Given the description of an element on the screen output the (x, y) to click on. 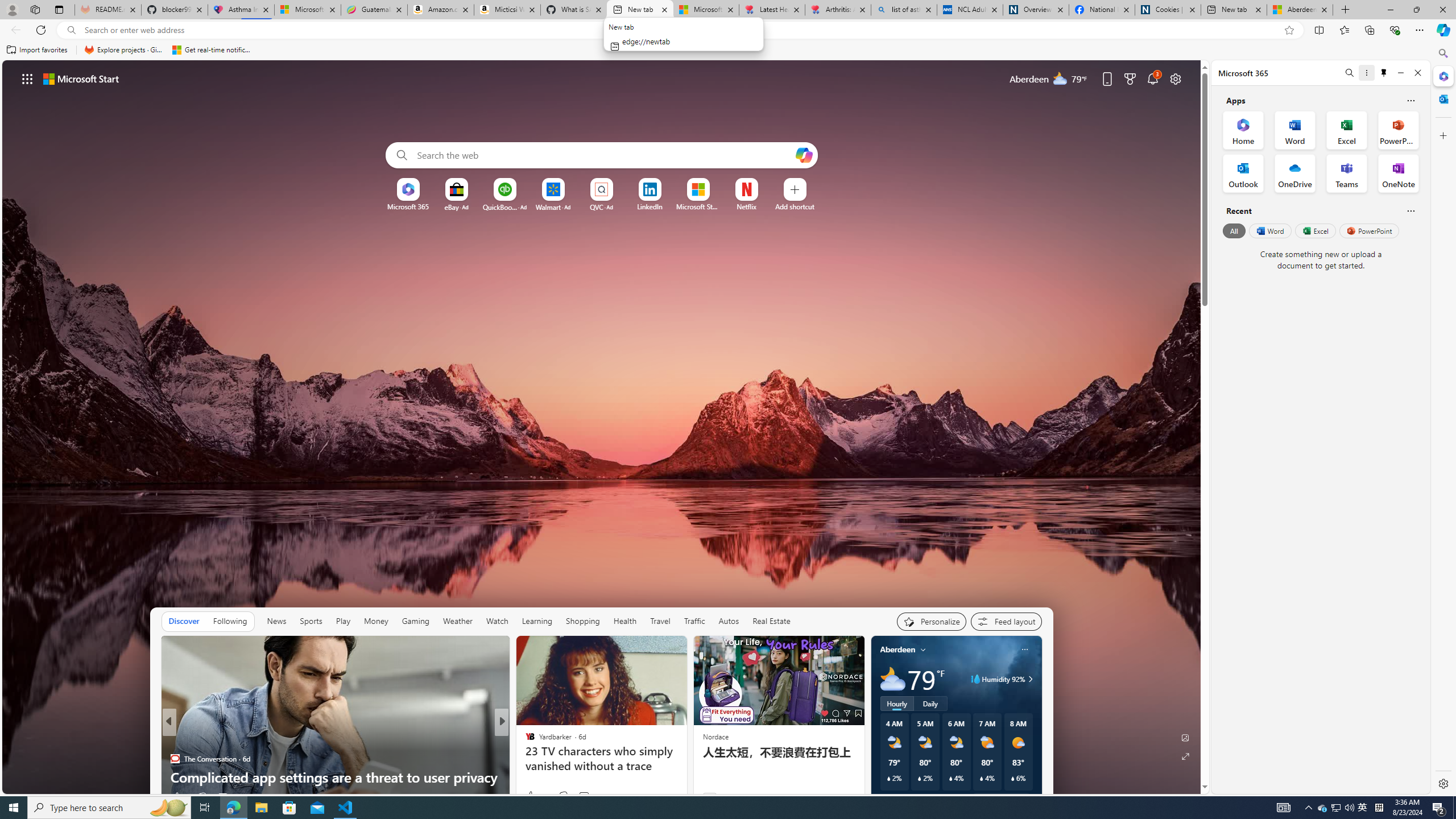
896 Like (536, 795)
More Options (764, 182)
Class: icon-img (1024, 649)
Real Estate (771, 621)
17 Like (530, 796)
Ad Choice (851, 797)
OneDrive Office App (1295, 172)
71 Like (530, 796)
AutomationID: backgroundImagePicture (601, 426)
